Given the description of an element on the screen output the (x, y) to click on. 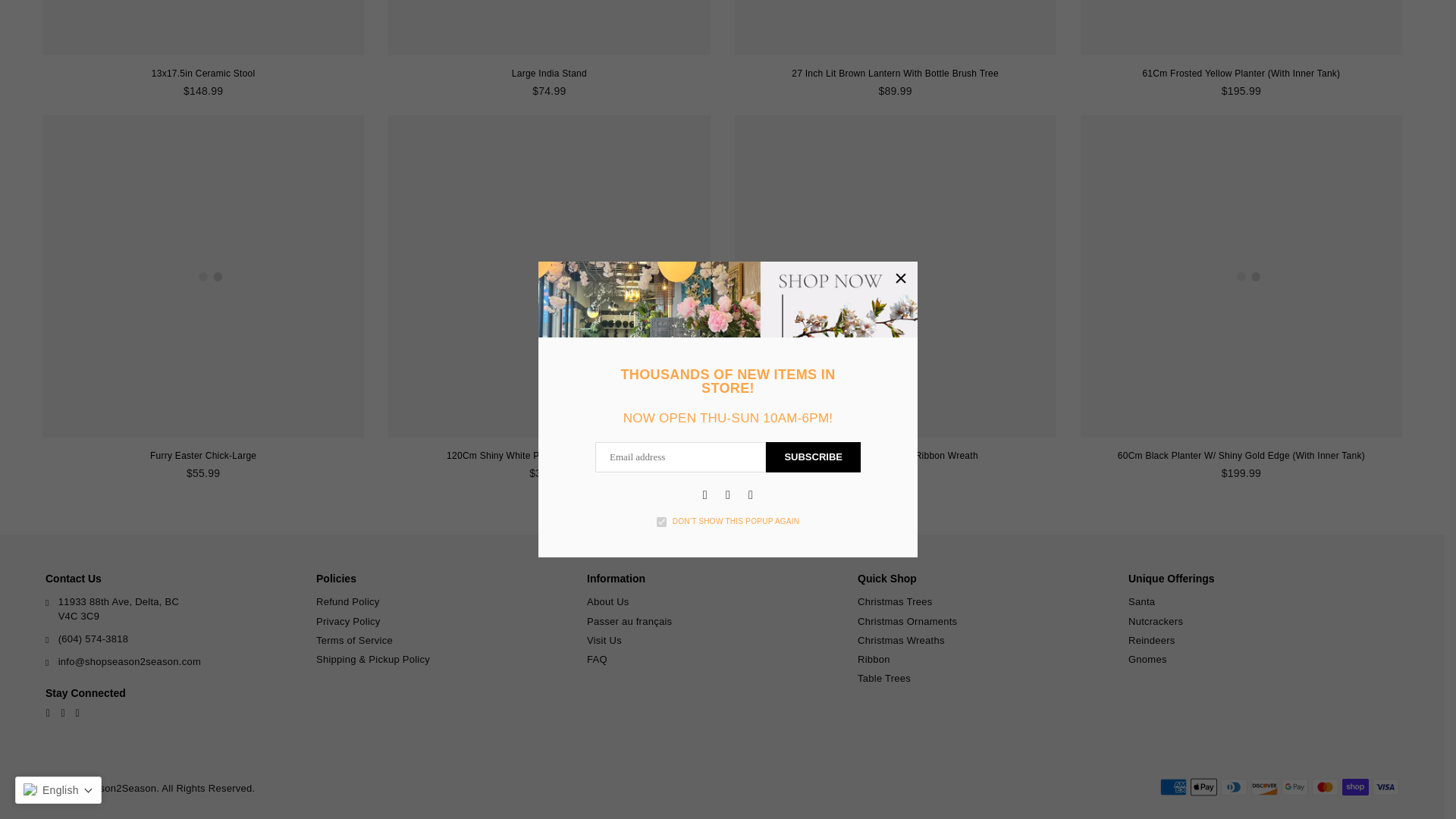
Diners Club (1234, 787)
Google Pay (1294, 787)
Shop Pay (1355, 787)
Visa (1386, 787)
Discover (1264, 787)
American Express (1173, 787)
Mastercard (1324, 787)
Apple Pay (1204, 787)
